Given the description of an element on the screen output the (x, y) to click on. 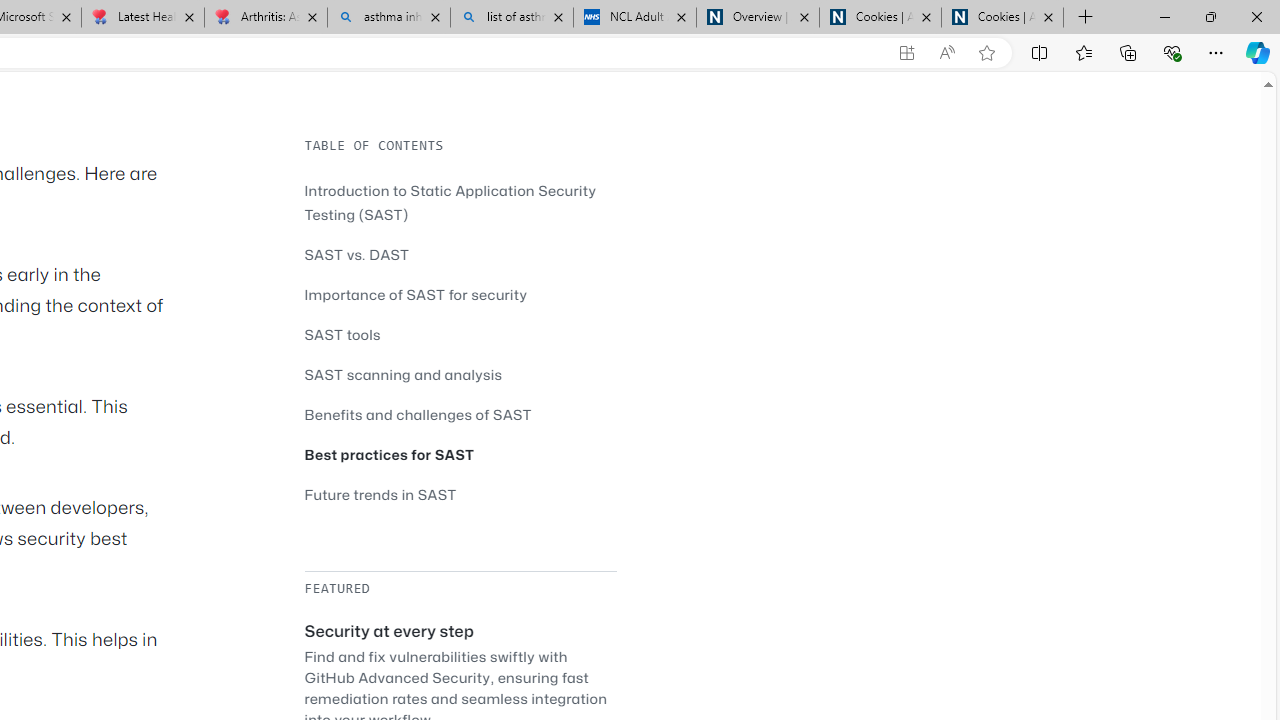
Best practices for SAST (460, 454)
SAST vs. DAST (356, 254)
Benefits and challenges of SAST (418, 414)
Best practices for SAST (389, 453)
Future trends in SAST (380, 494)
SAST tools (460, 334)
App available. Install GitHub (906, 53)
